Given the description of an element on the screen output the (x, y) to click on. 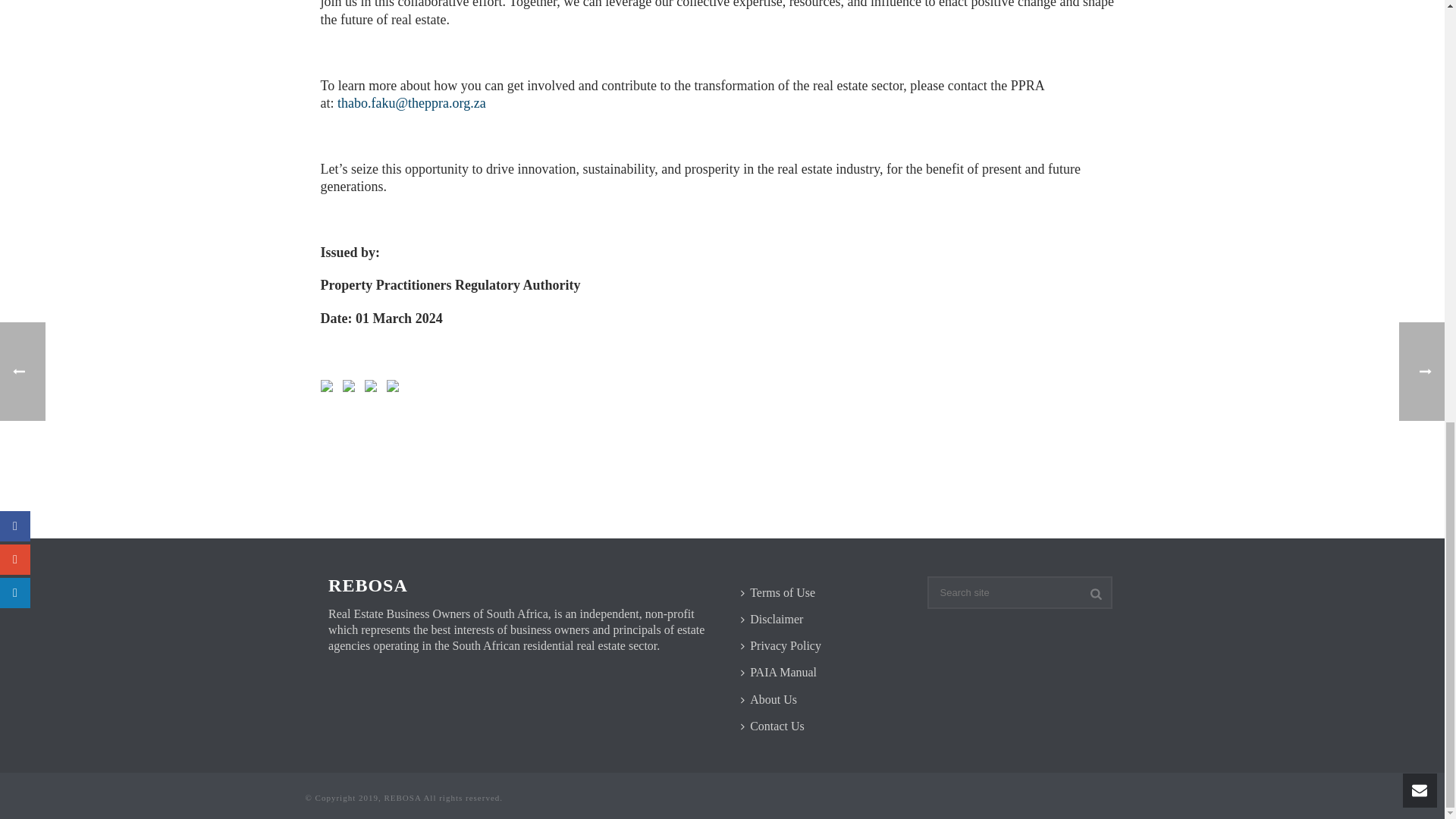
Share on Linkedin (372, 389)
Share by email (395, 389)
Share on Twitter (351, 389)
Share on Facebook (328, 389)
